Given the description of an element on the screen output the (x, y) to click on. 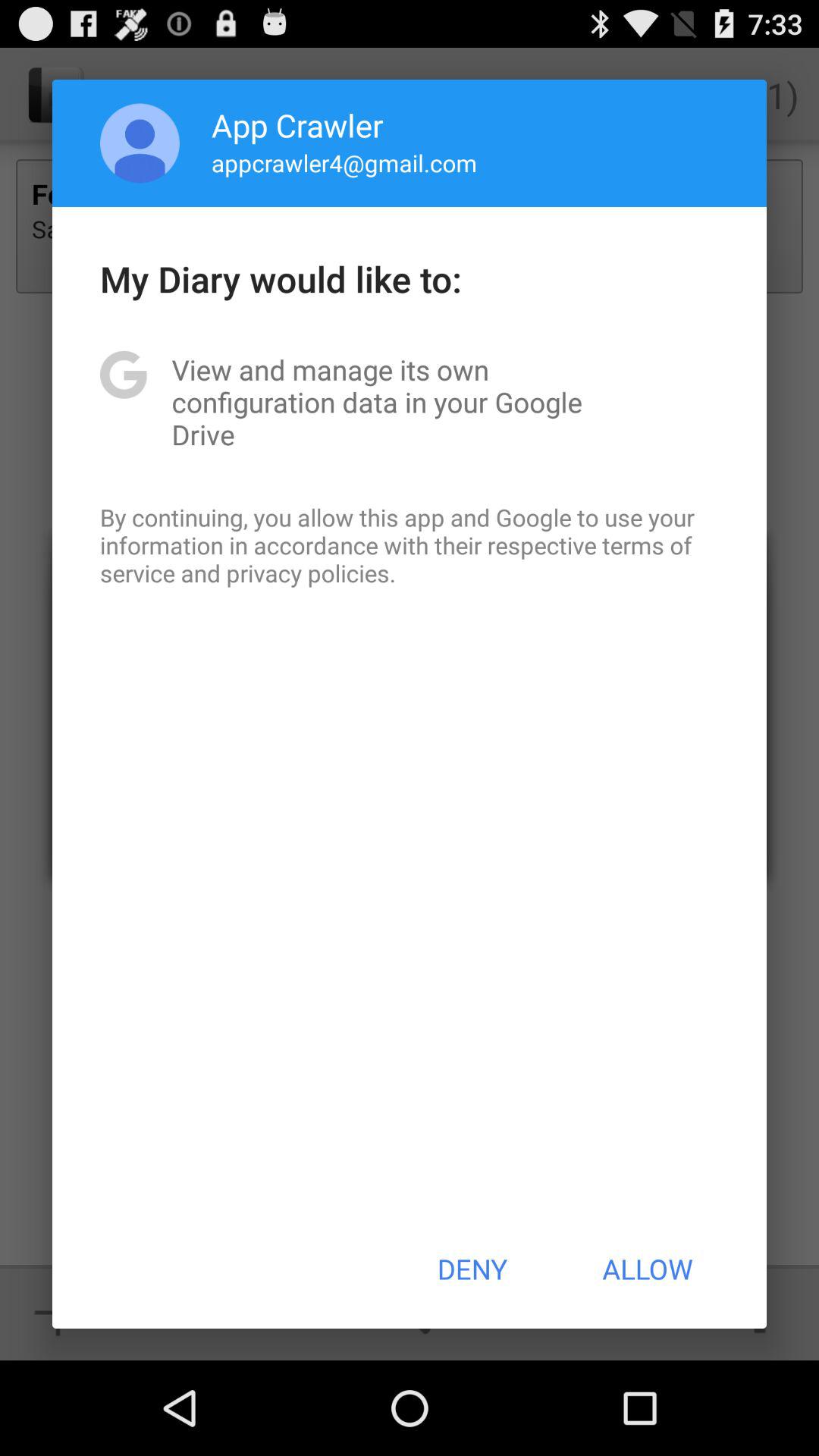
choose the app above the by continuing you app (409, 401)
